Given the description of an element on the screen output the (x, y) to click on. 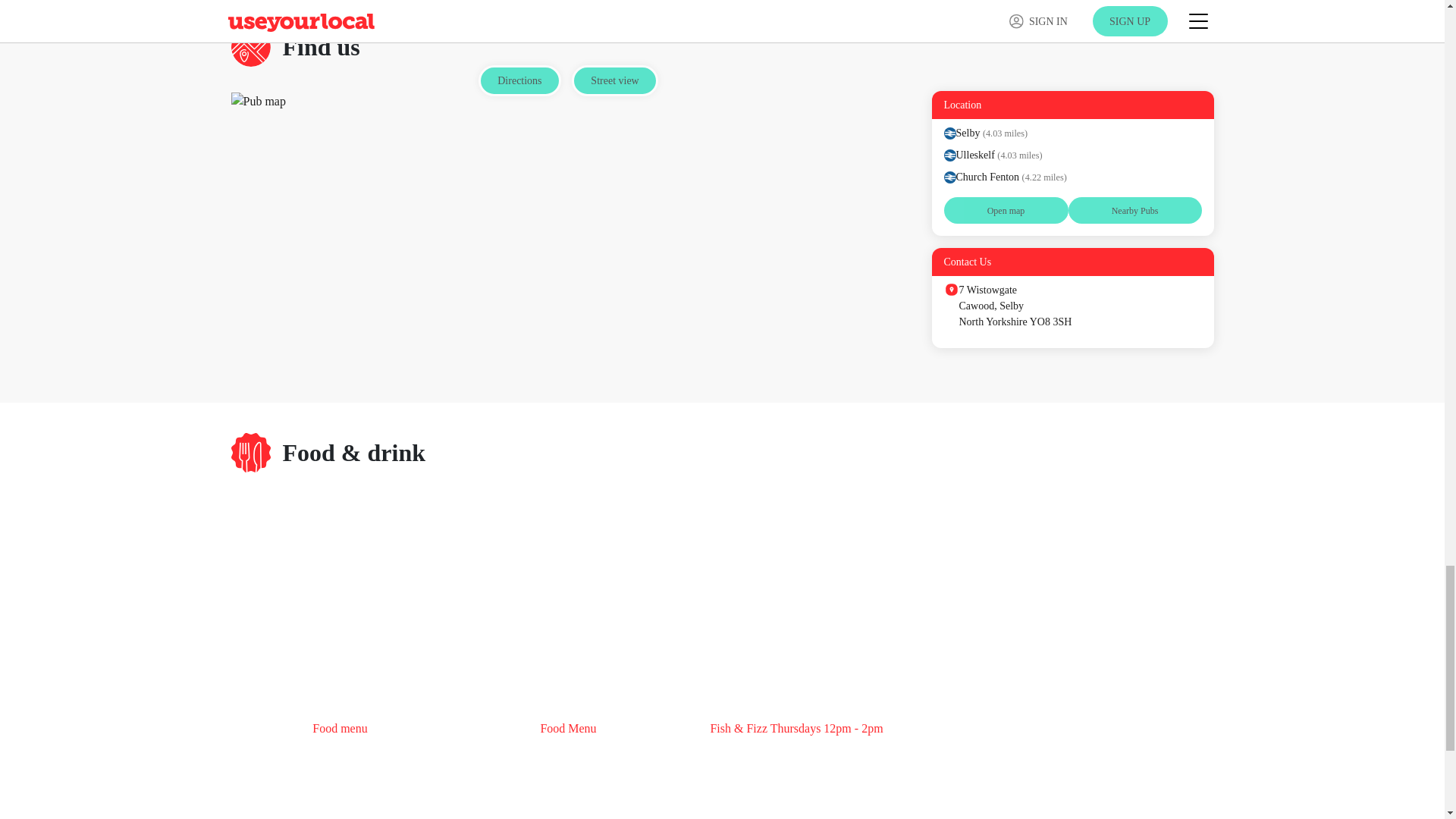
National Rail (949, 155)
National Rail (949, 133)
National Rail (949, 177)
